Given the description of an element on the screen output the (x, y) to click on. 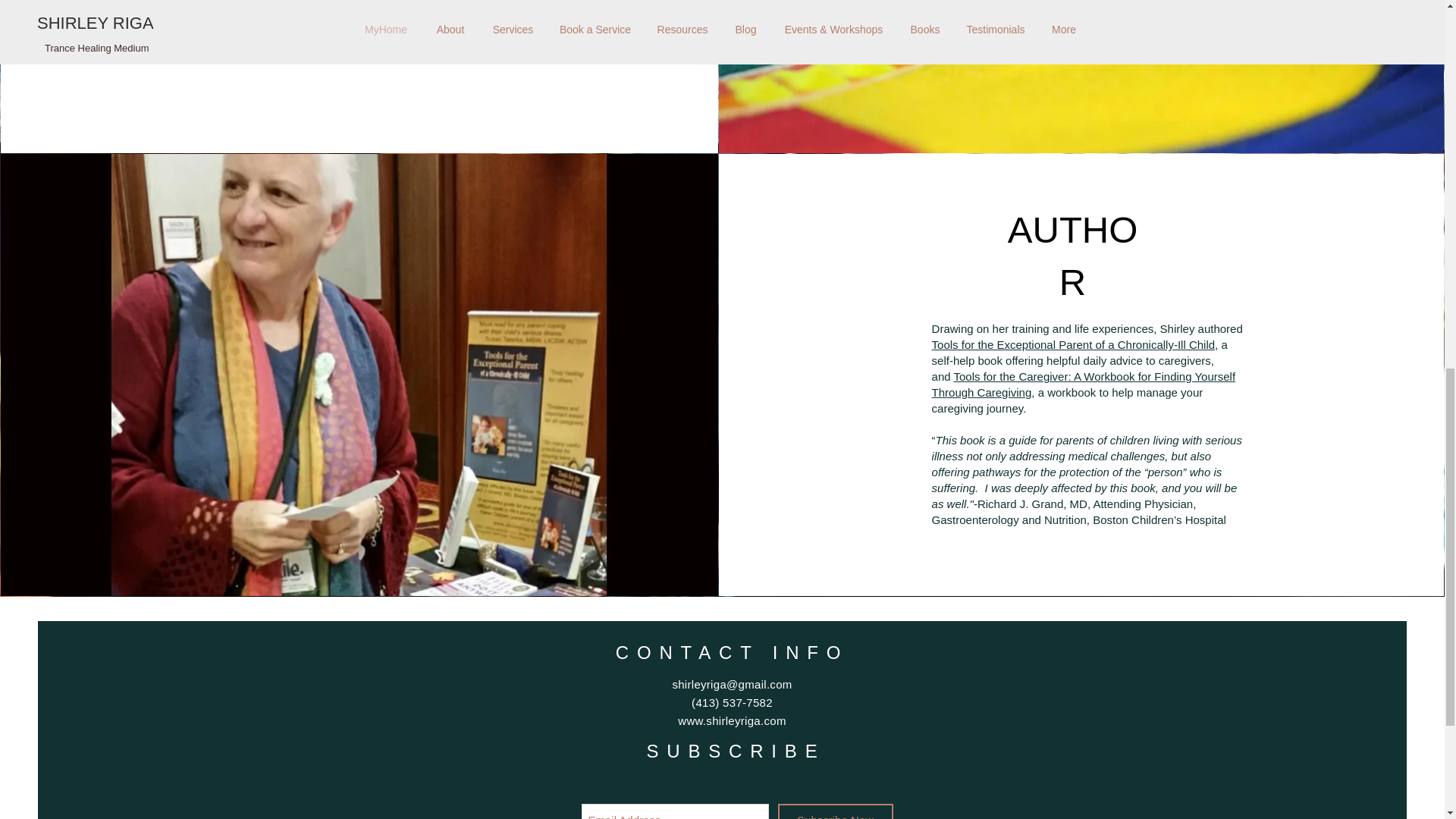
www.shirleyriga.com (732, 720)
Tools for the Exceptional Parent of a Chronically-Ill Child (1073, 344)
Learn more (334, 2)
Subscribe Now (835, 811)
